Given the description of an element on the screen output the (x, y) to click on. 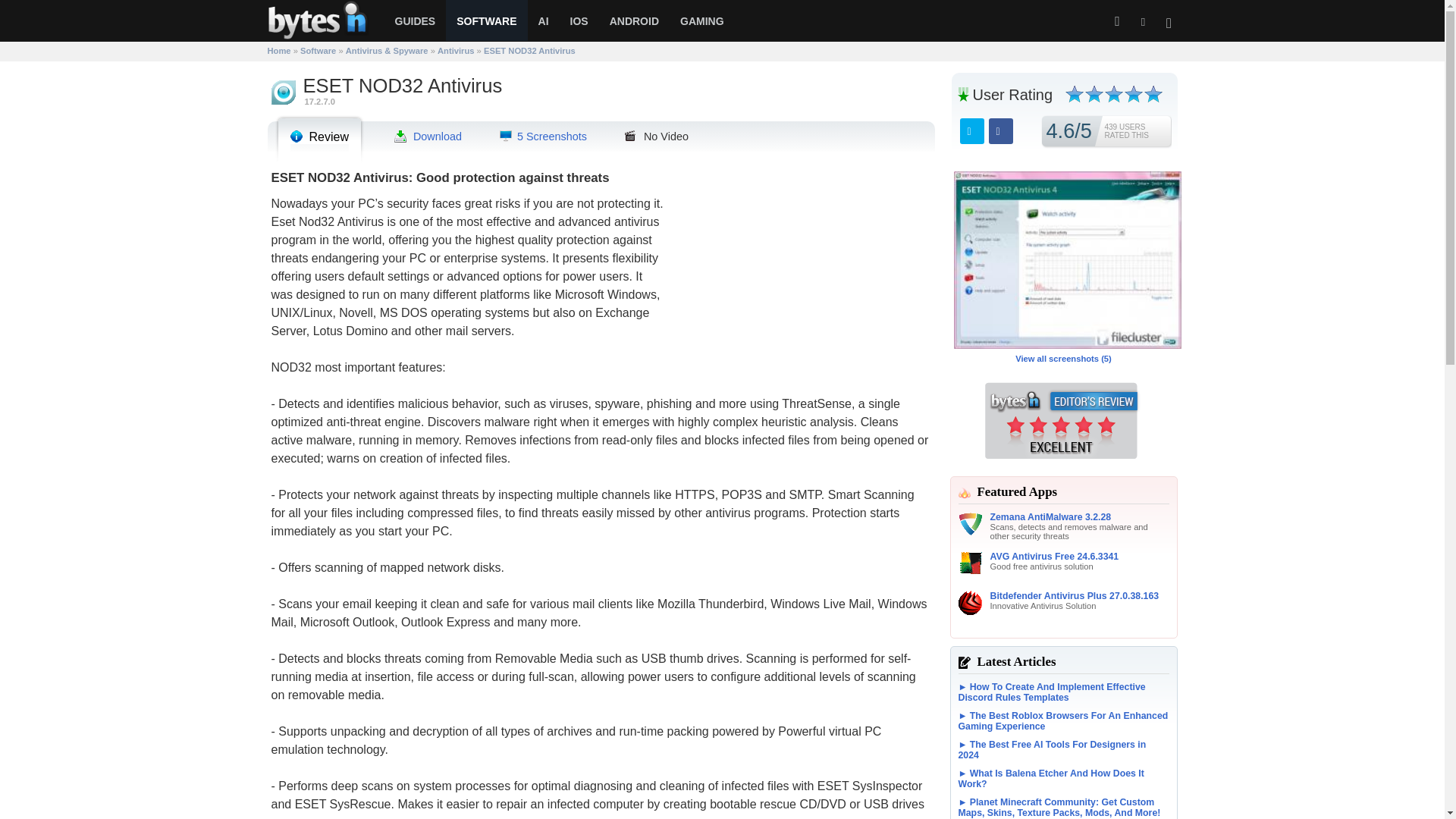
Poor (1093, 94)
Home (277, 50)
Software (317, 50)
Follow us on Twitter (1142, 21)
ANDROID (633, 20)
Review (318, 137)
5 Screenshots (542, 136)
Zemana AntiMalware 3.2.28 (1077, 516)
IOS (578, 20)
Advertisement (798, 274)
